Given the description of an element on the screen output the (x, y) to click on. 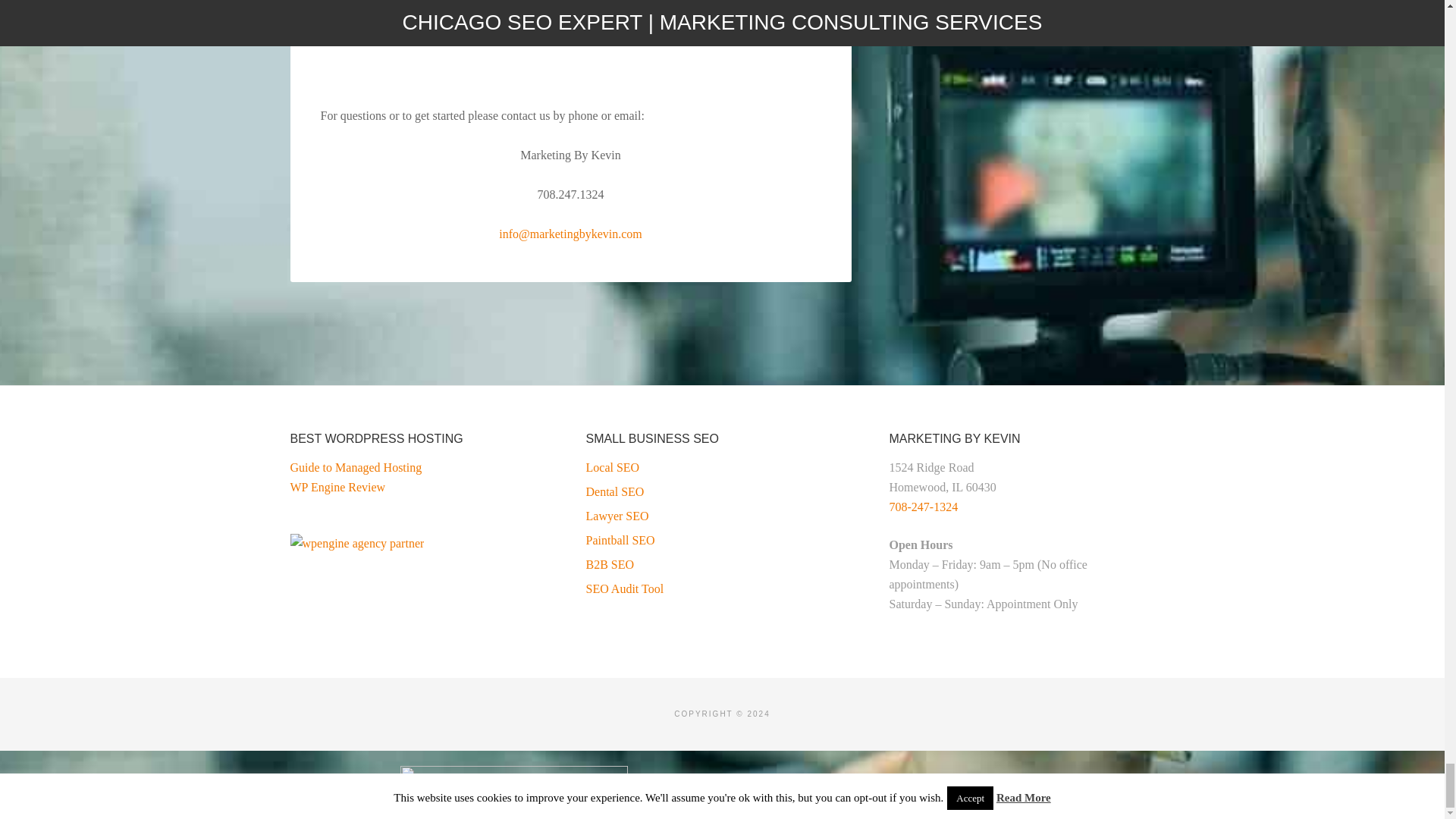
wpengine agency partner (356, 543)
DMCA.com Protection Status (930, 794)
seo expert services (570, 43)
